Given the description of an element on the screen output the (x, y) to click on. 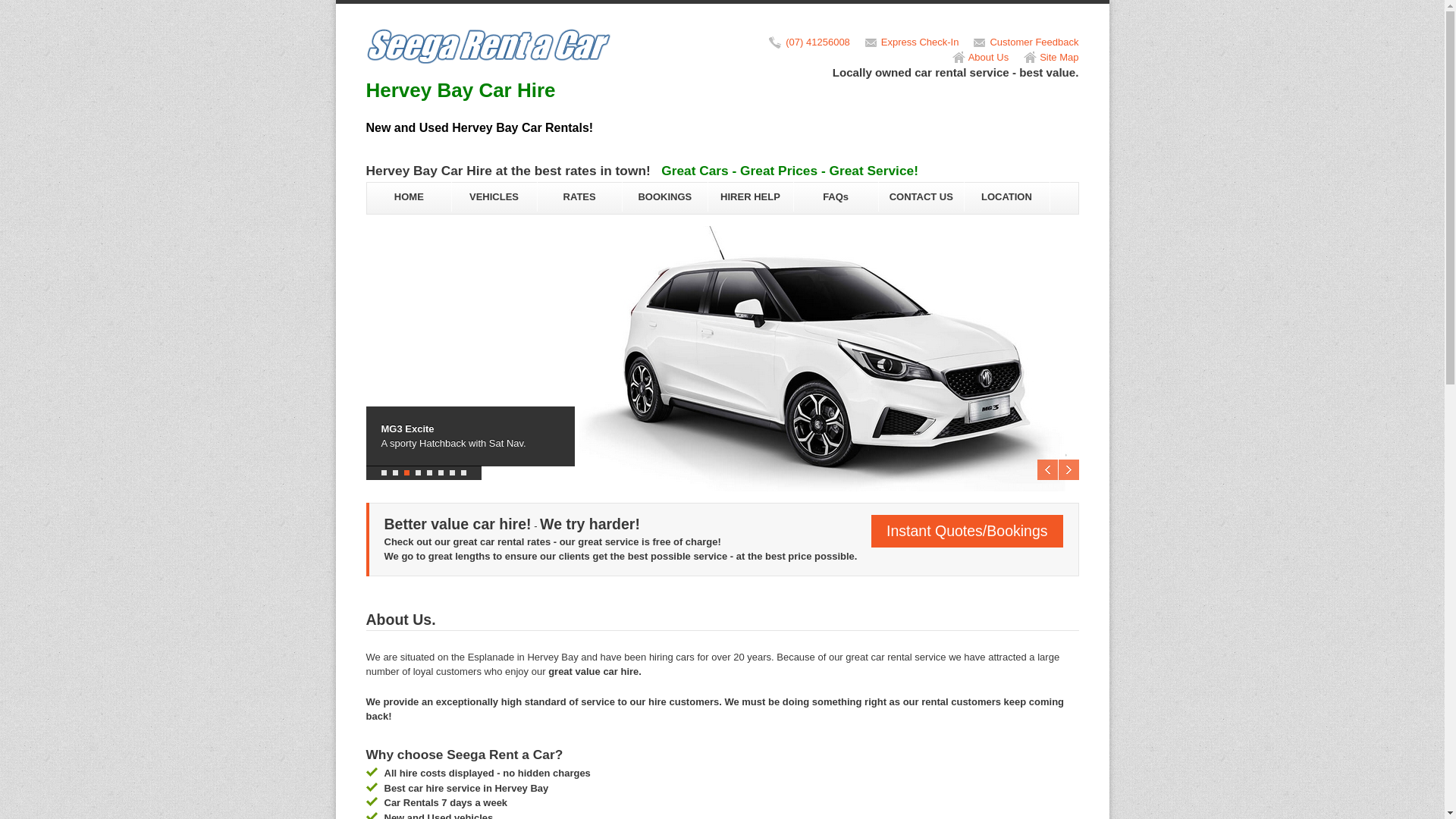
6 Element type: text (440, 472)
HIRER HELP Element type: text (750, 197)
7 Element type: text (451, 472)
About Us Element type: text (988, 56)
3 Element type: text (405, 472)
HOME Element type: text (408, 197)
1 Element type: text (382, 472)
2 Element type: text (395, 472)
5 Element type: text (428, 472)
VEHICLES Element type: text (493, 197)
Previous Element type: text (1047, 469)
LOCATION Element type: text (1006, 197)
FAQs Element type: text (835, 197)
4 Element type: text (417, 472)
Site Map Element type: text (1058, 56)
Instant Quotes/Bookings Element type: text (966, 530)
(07) 41256008 Element type: text (817, 41)
CONTACT US Element type: text (920, 197)
Customer Feedback Element type: text (1033, 41)
Next Element type: text (1068, 469)
RATES Element type: text (579, 197)
Express Check-In Element type: text (920, 41)
8 Element type: text (463, 472)
BOOKINGS Element type: text (664, 197)
